Given the description of an element on the screen output the (x, y) to click on. 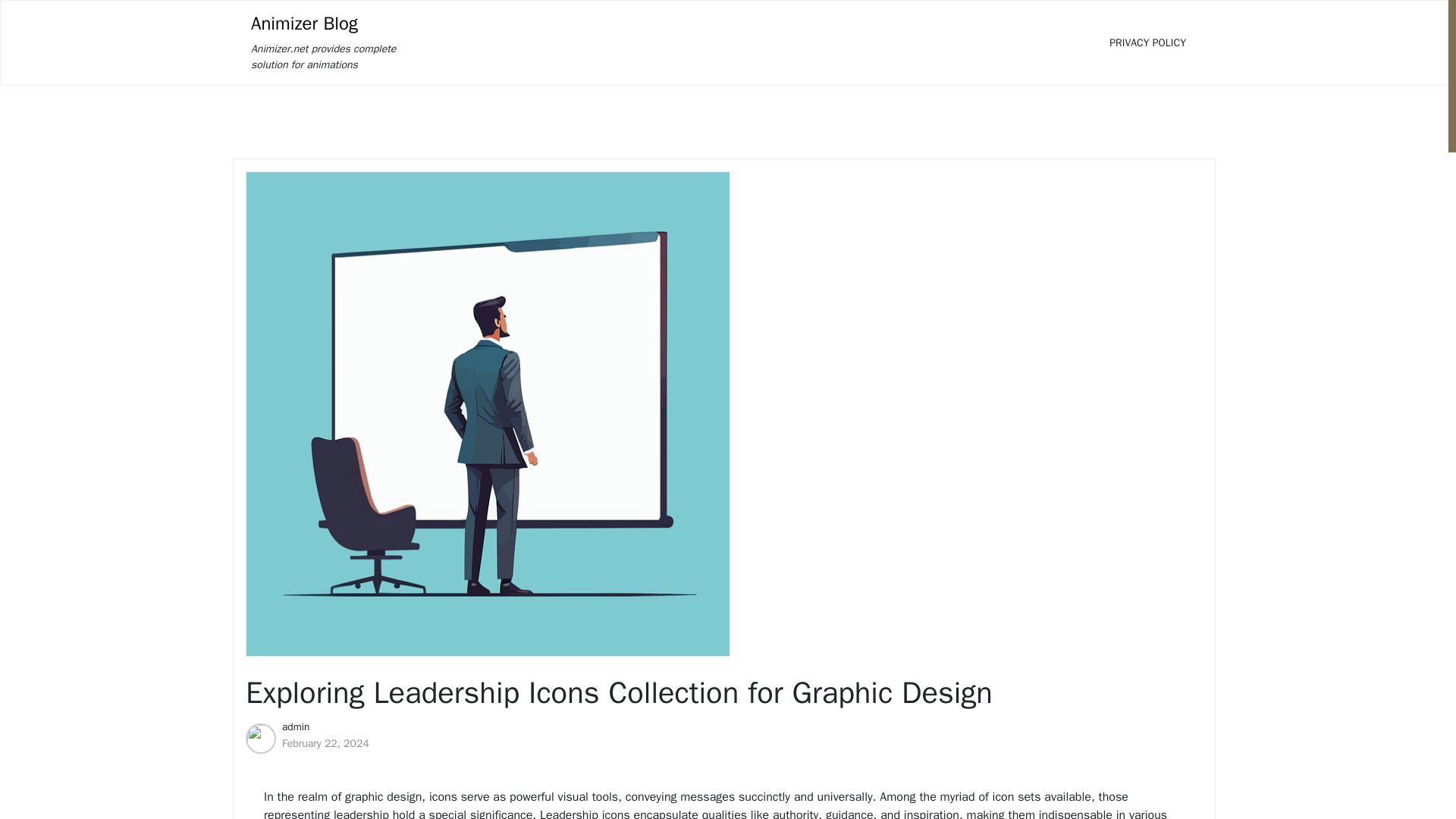
Animizer Blog (304, 24)
admin (295, 726)
PRIVACY POLICY (1146, 42)
